Given the description of an element on the screen output the (x, y) to click on. 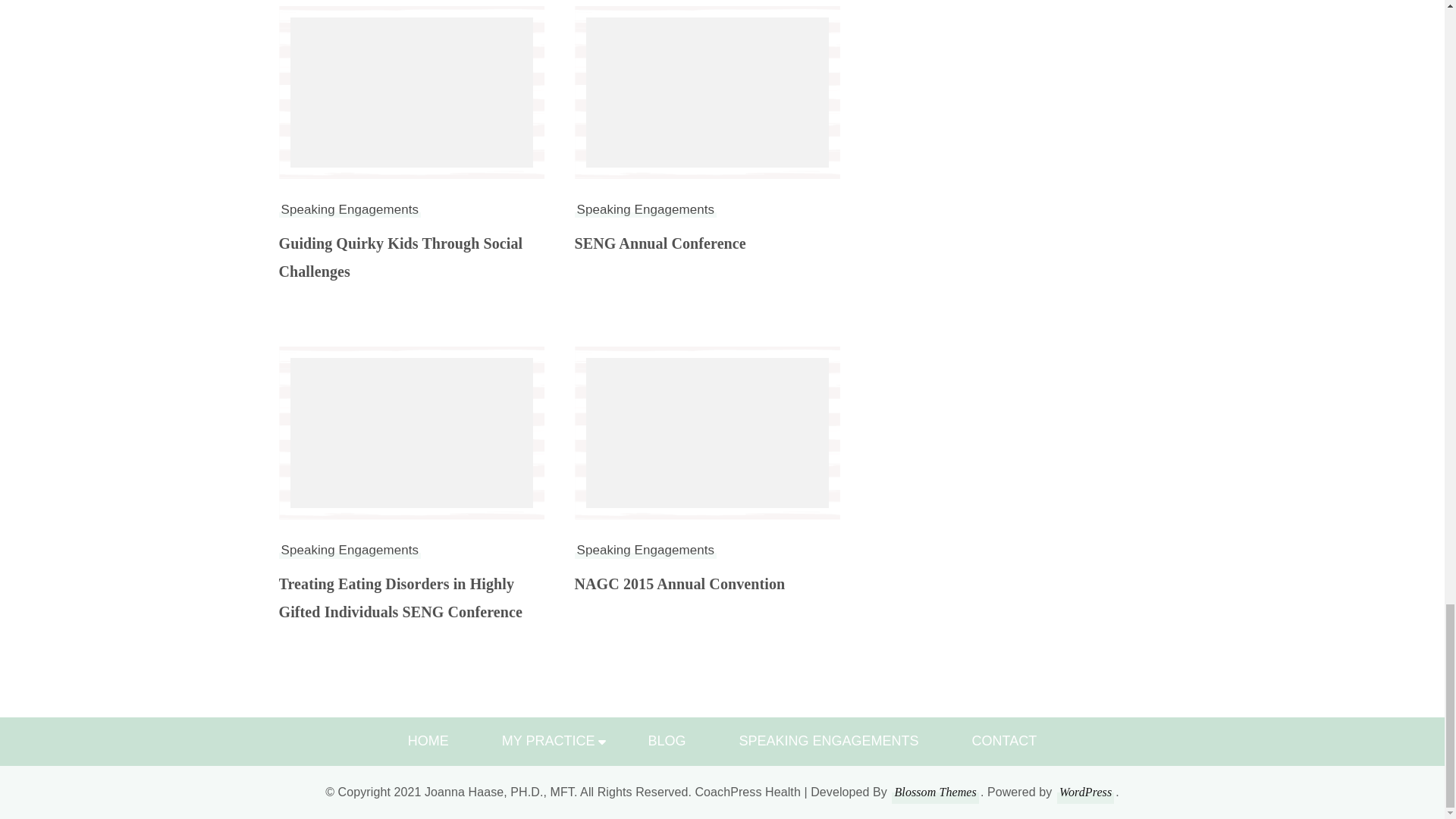
Guiding Quirky Kids Through Social Challenges (411, 257)
Speaking Engagements (350, 209)
Speaking Engagements (646, 209)
